Given the description of an element on the screen output the (x, y) to click on. 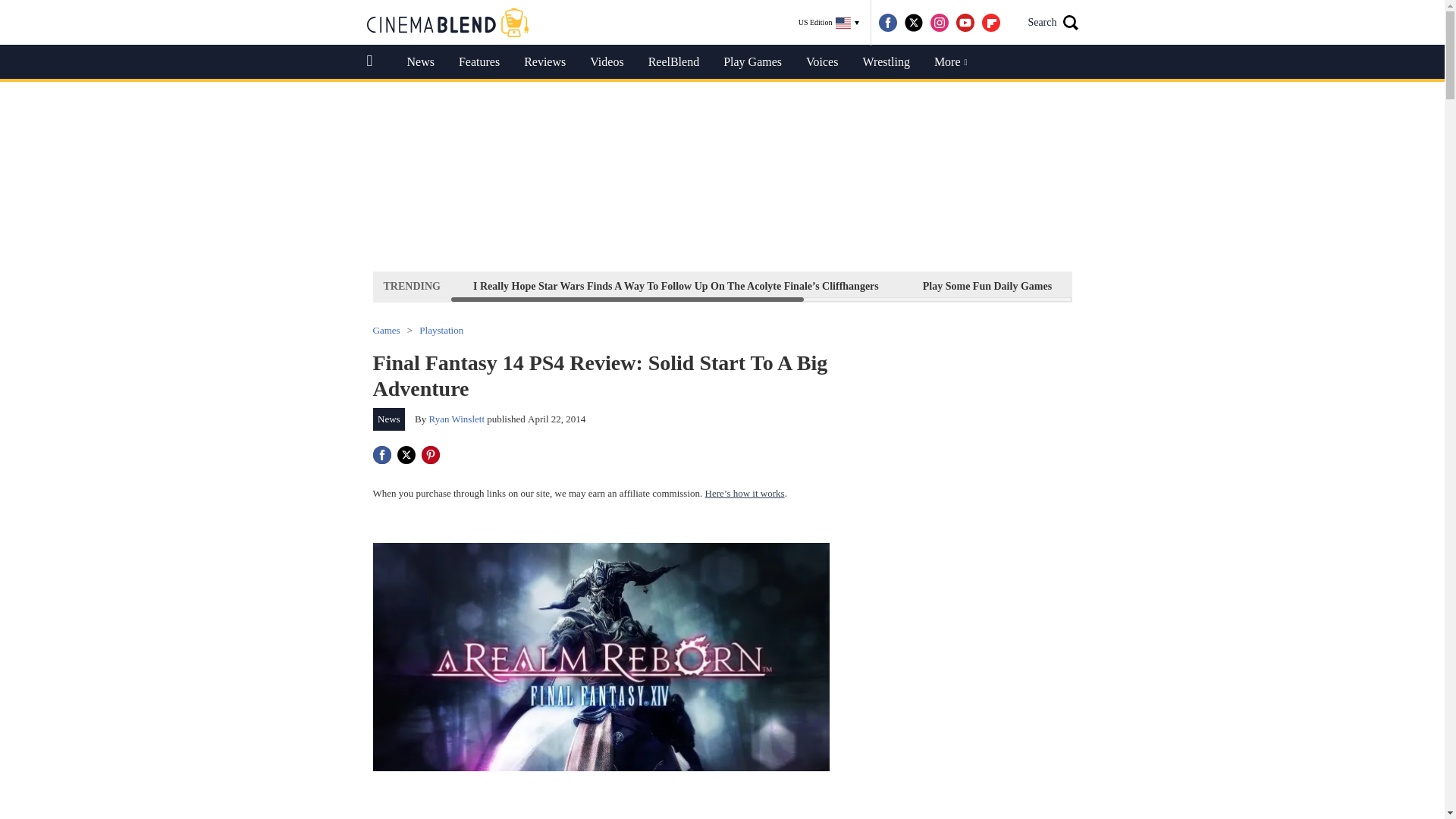
Reviews (545, 61)
US Edition (828, 22)
Videos (606, 61)
ReelBlend (673, 61)
2024 Upcoming Movies (1148, 286)
Wrestling (885, 61)
Voices (821, 61)
Upcoming Marvel Movies (1304, 286)
News (419, 61)
Play Games (752, 61)
